Given the description of an element on the screen output the (x, y) to click on. 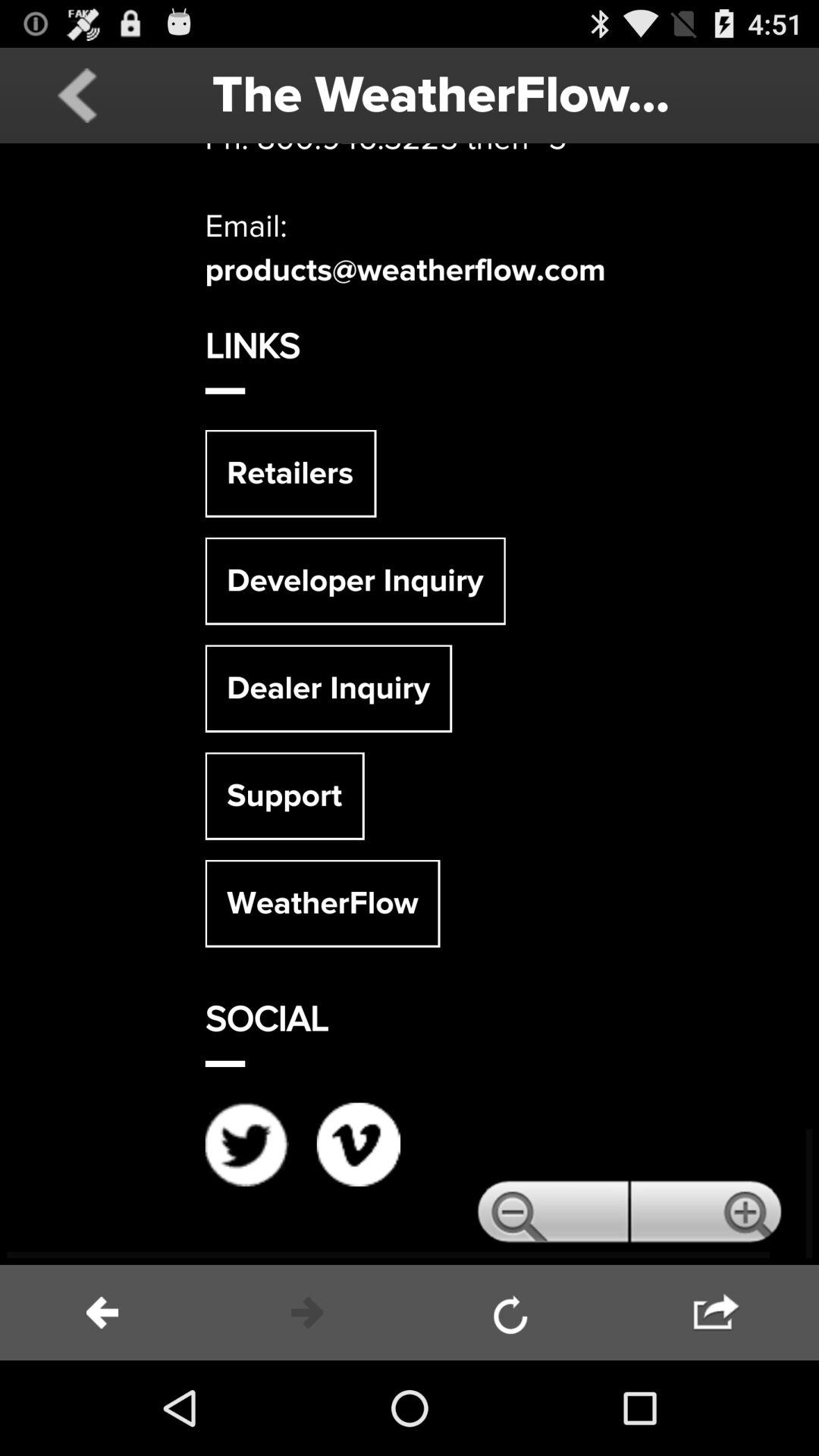
update the page (511, 1312)
